Given the description of an element on the screen output the (x, y) to click on. 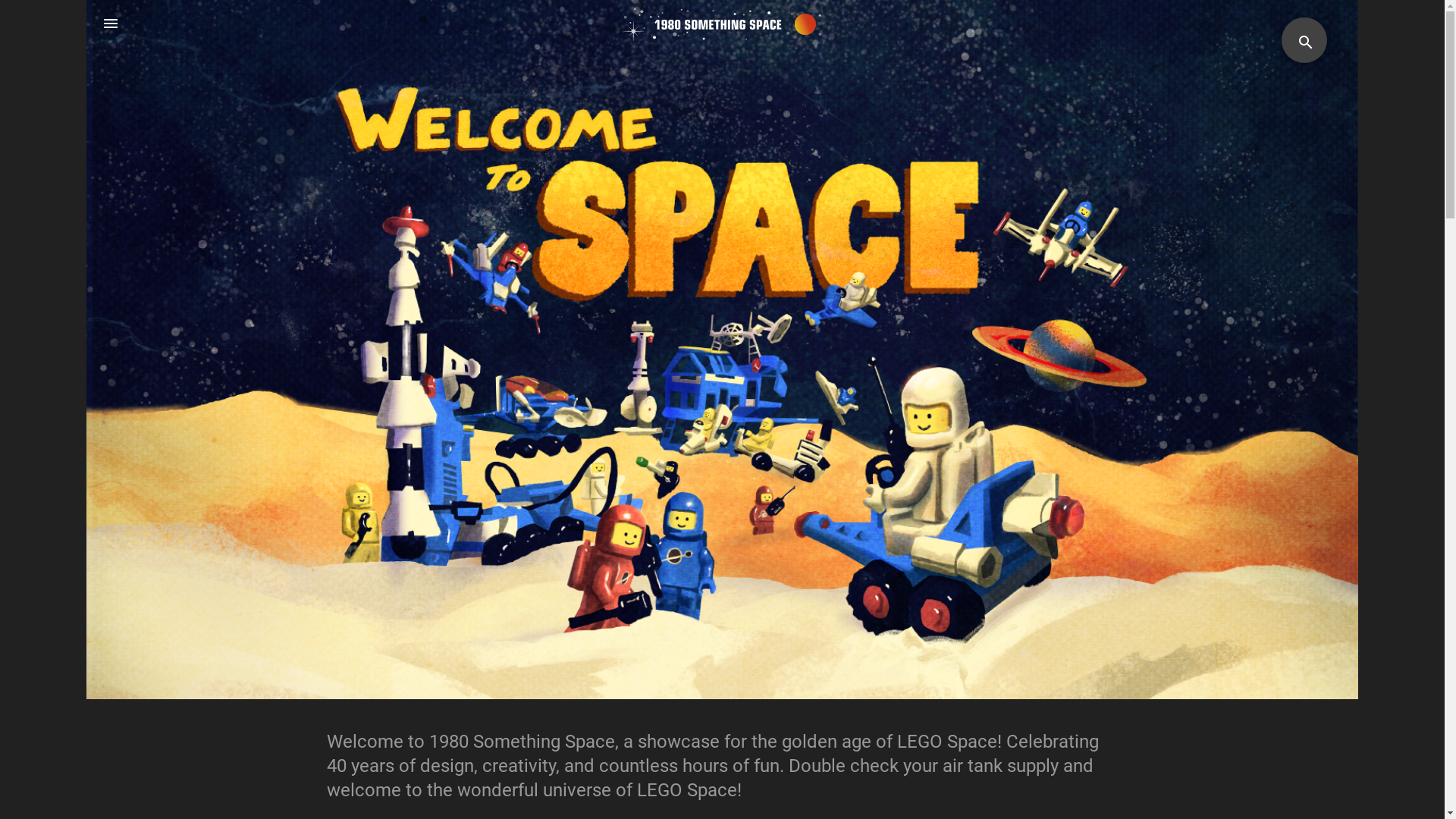
menu Element type: text (110, 24)
